Given the description of an element on the screen output the (x, y) to click on. 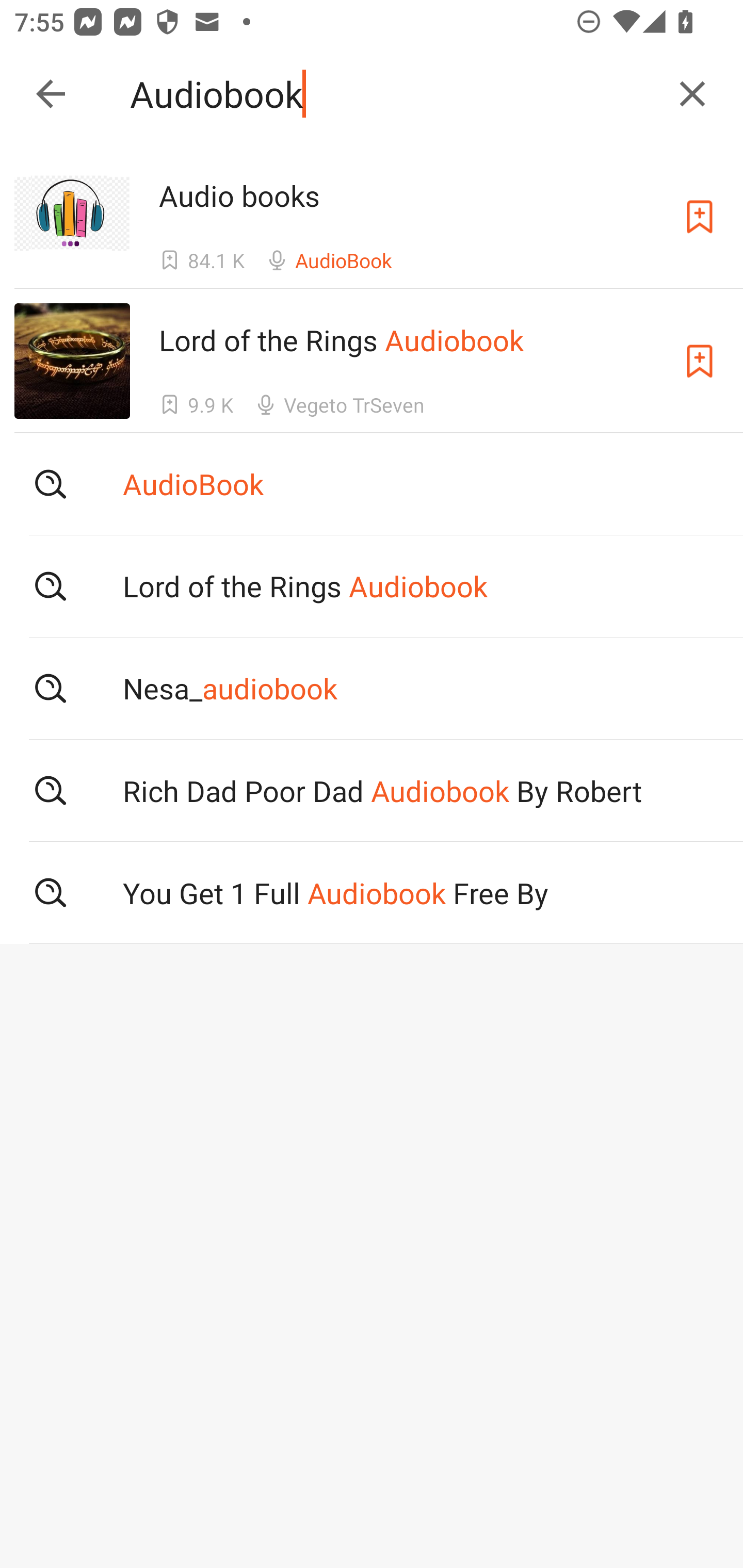
Collapse (50, 93)
Clear query (692, 93)
Audiobook (393, 94)
Subscribe (699, 216)
Subscribe (699, 360)
 AudioBook (371, 483)
 Lord of the Rings Audiobook (371, 585)
 Nesa_audiobook (371, 688)
 Rich Dad Poor Dad Audiobook By Robert Kiyosaki (371, 791)
